Given the description of an element on the screen output the (x, y) to click on. 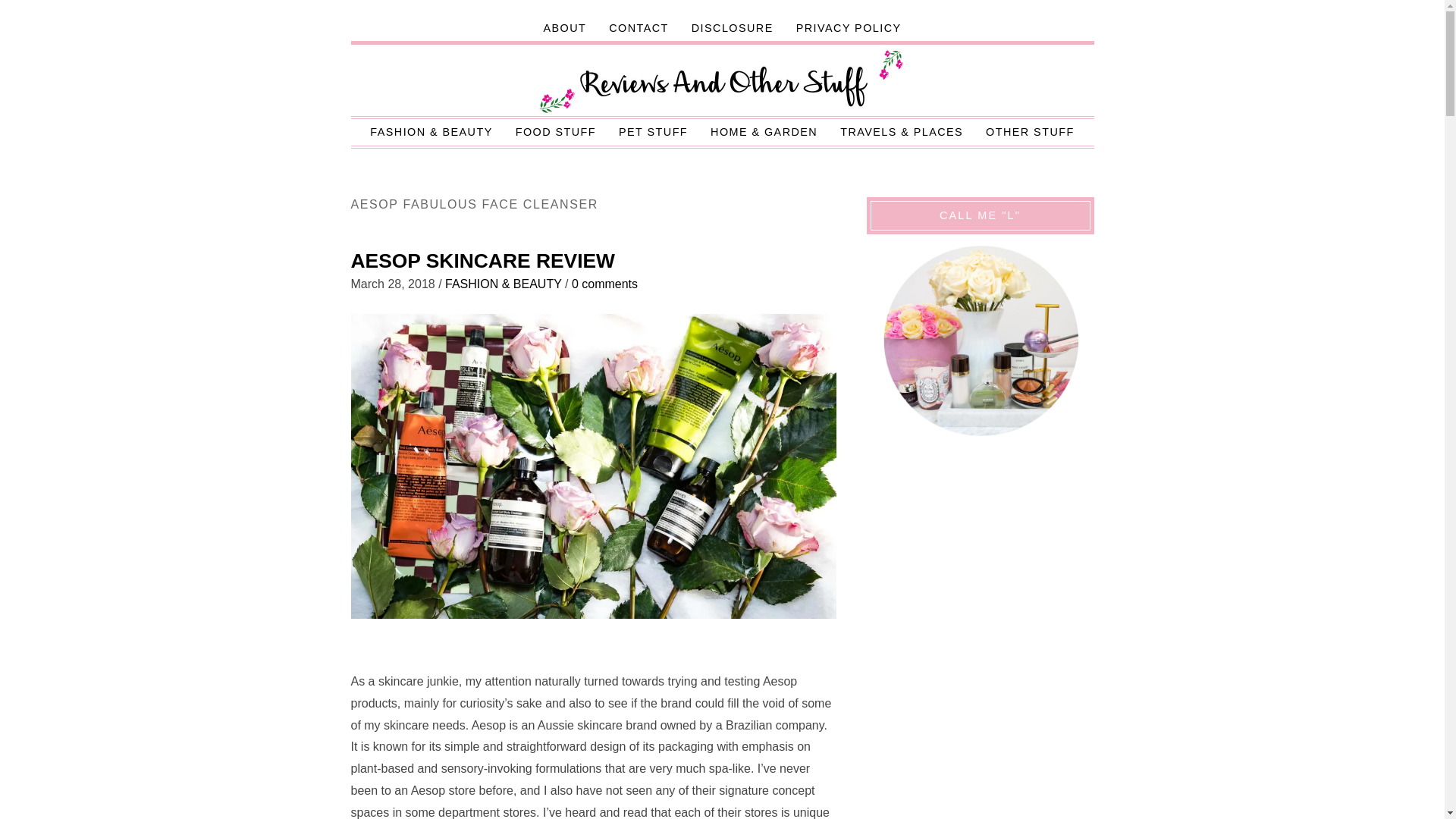
ABOUT (563, 27)
0 comments (604, 283)
DISCLOSURE (731, 27)
FOOD STUFF (555, 131)
PRIVACY POLICY (848, 27)
PET STUFF (652, 131)
Reviews and Other Stuff (722, 81)
OTHER STUFF (1030, 131)
CONTACT (637, 27)
AESOP SKINCARE REVIEW (482, 260)
